Given the description of an element on the screen output the (x, y) to click on. 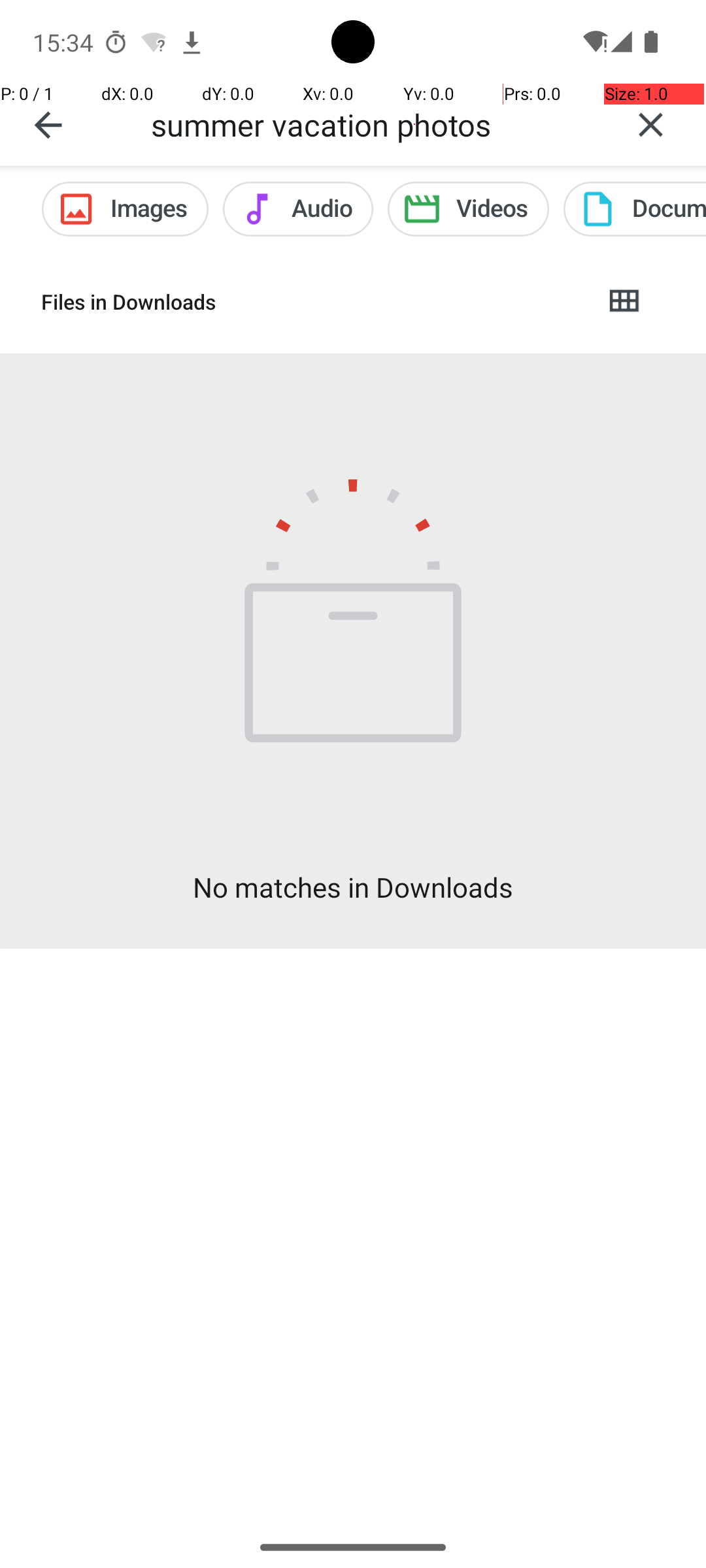
summer vacation photos Element type: android.widget.AutoCompleteTextView (373, 124)
